Given the description of an element on the screen output the (x, y) to click on. 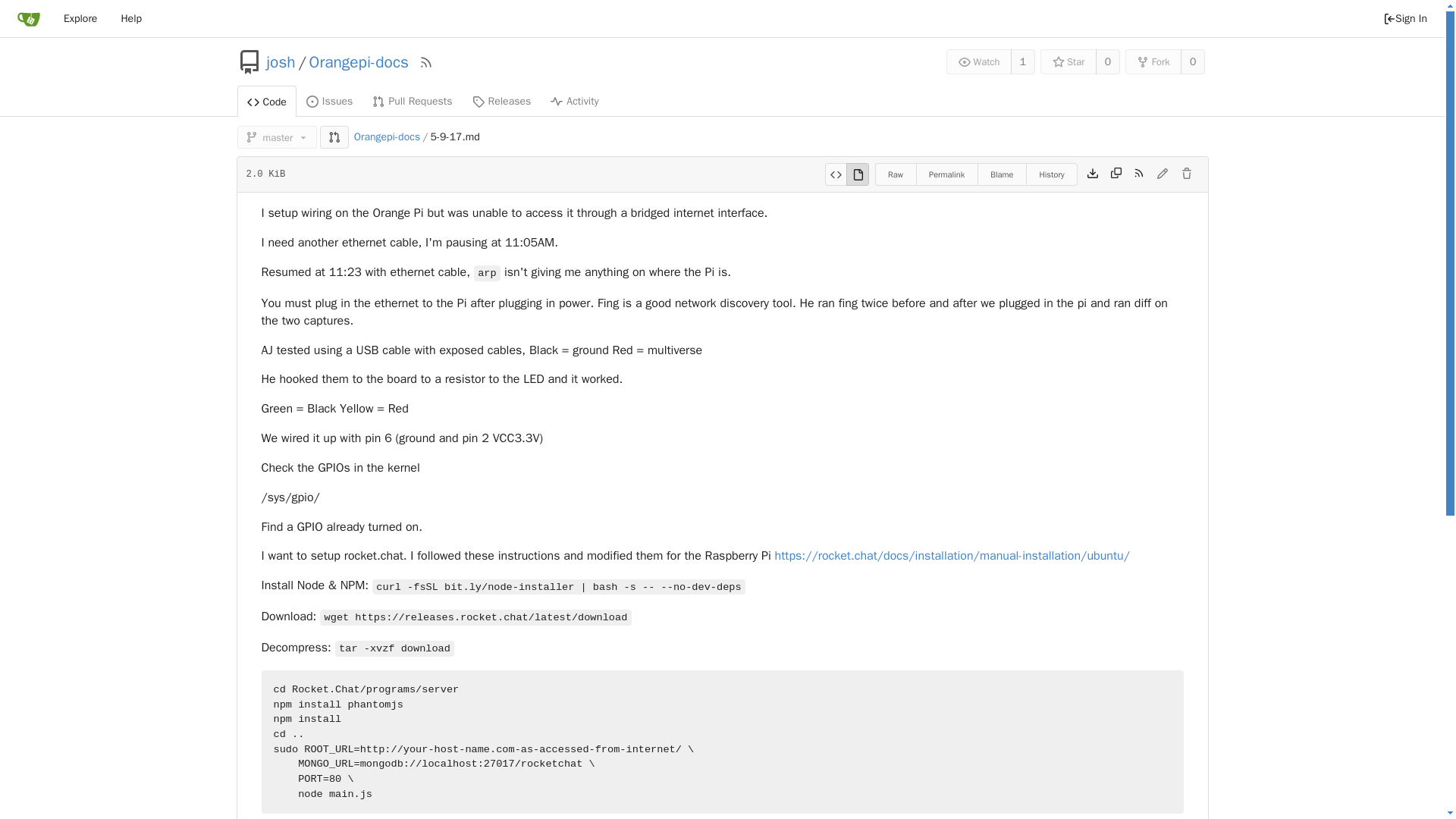
Watch (978, 61)
Orangepi-docs (358, 61)
Star (1068, 61)
History (1051, 173)
Activity (574, 101)
josh (280, 61)
master (276, 137)
Blame (1001, 173)
Releases (502, 101)
Fork (1153, 61)
1 (1022, 61)
Permalink (945, 173)
Help (130, 17)
Explore (79, 17)
Pull Requests (411, 101)
